Given the description of an element on the screen output the (x, y) to click on. 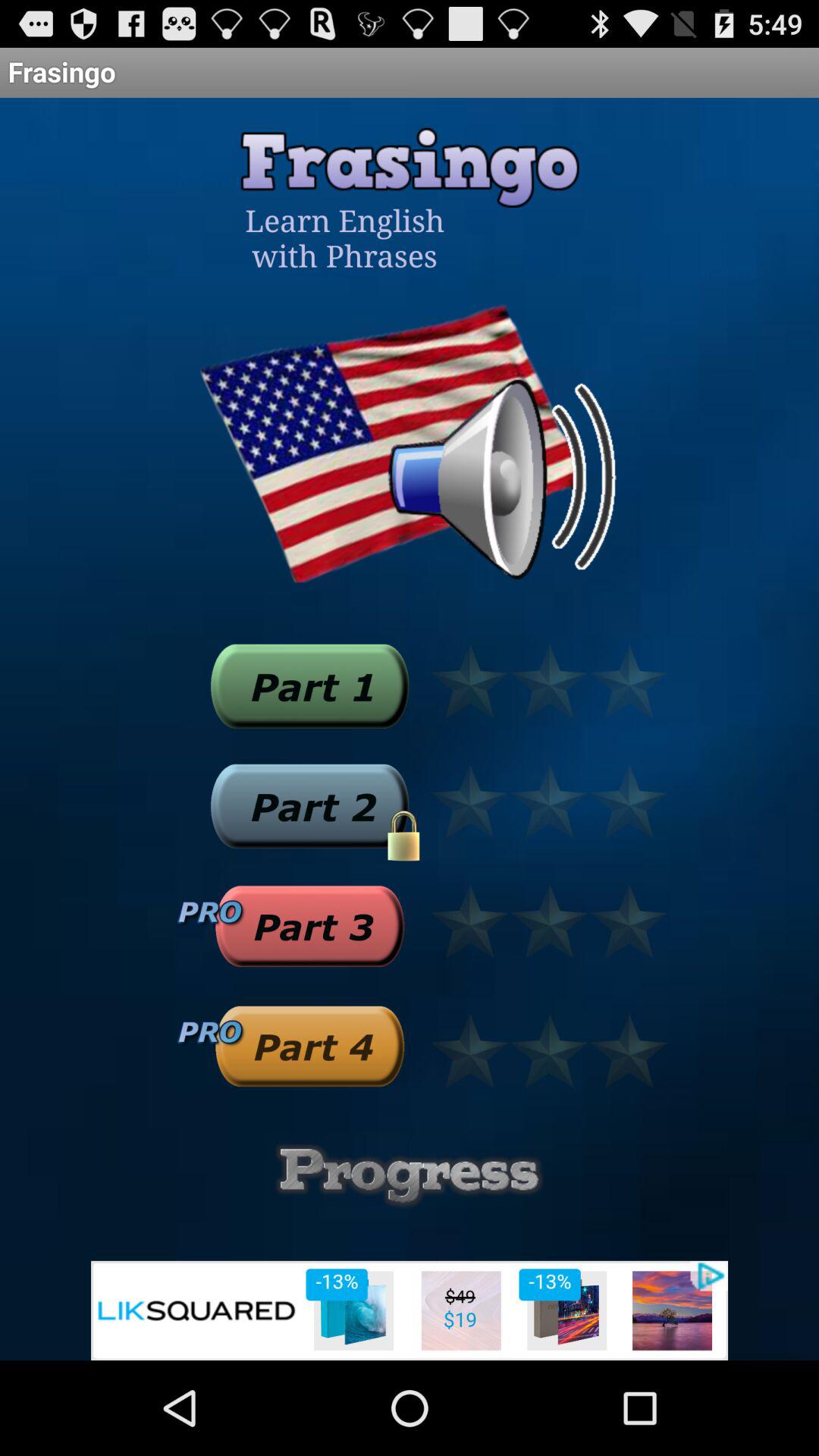
go to advertisement page (409, 1310)
